Given the description of an element on the screen output the (x, y) to click on. 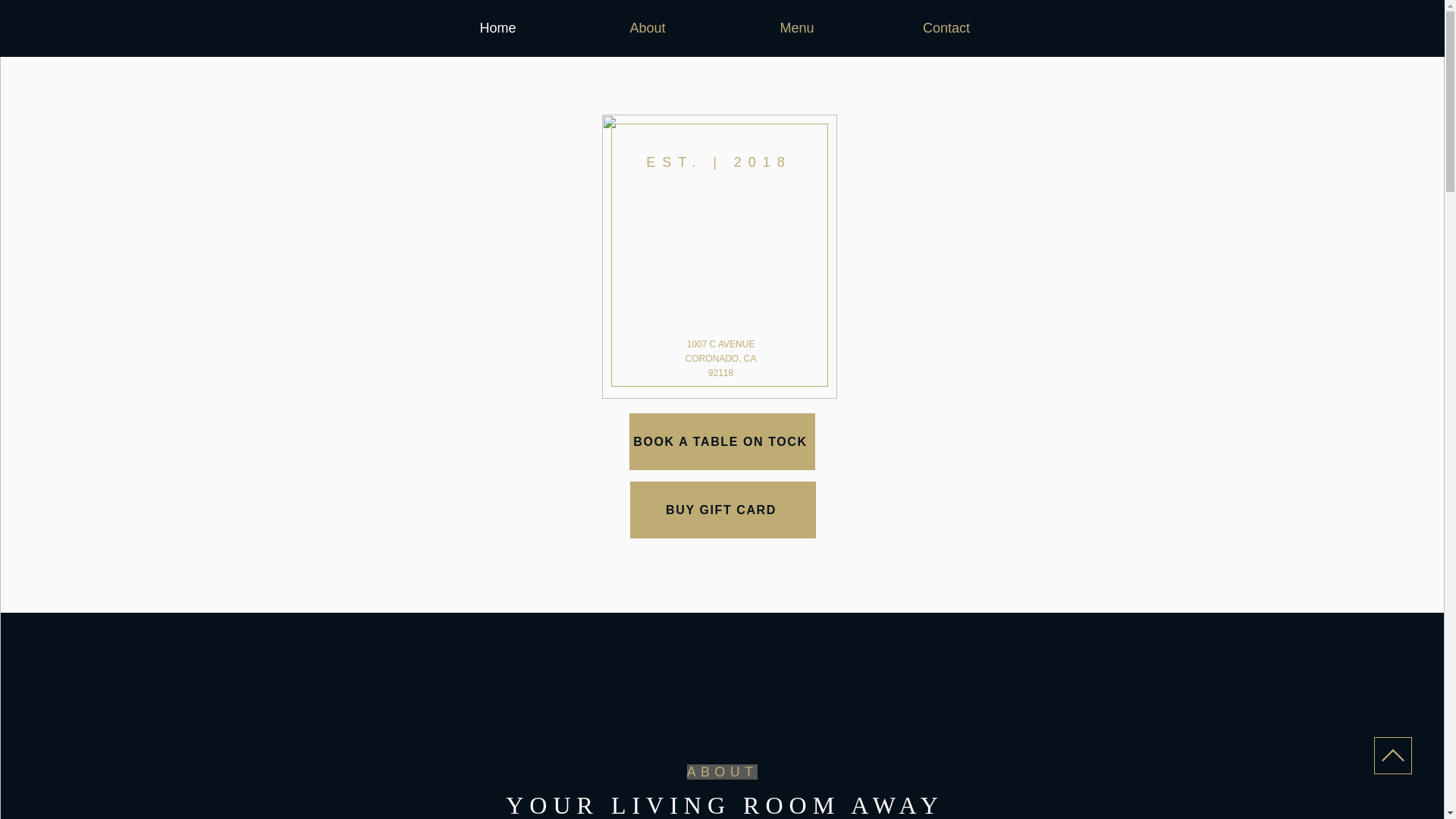
Home (498, 27)
Menu (796, 27)
About (647, 27)
Contact (947, 27)
BOOK A TABLE ON TOCK (721, 441)
BUY GIFT CARD (721, 509)
